Given the description of an element on the screen output the (x, y) to click on. 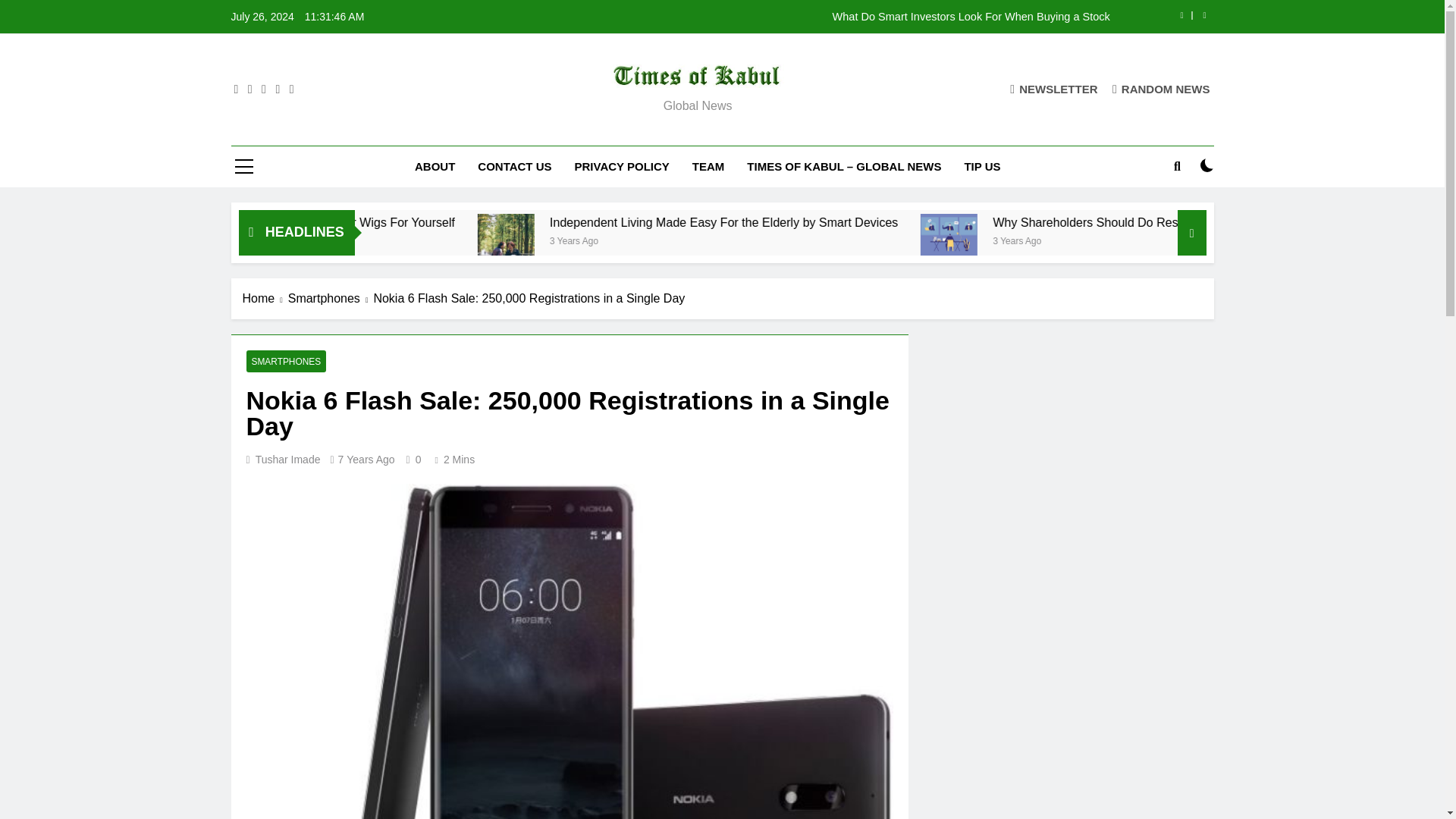
TIP US (981, 166)
CONTACT US (513, 166)
ABOUT (434, 166)
Why Shareholders Should Do Research on Company Executives (1089, 234)
What Do Smart Investors Look For When Buying a Stock (817, 16)
PRIVACY POLICY (622, 166)
3 Years Ago (1185, 239)
What Do Smart Investors Look For When Buying a Stock (817, 16)
on (1206, 164)
RANDOM NEWS (1160, 88)
TEAM (708, 166)
Tips To Select The Right Human Hair Wigs For Yourself (495, 222)
2 Years Ago (368, 239)
